Given the description of an element on the screen output the (x, y) to click on. 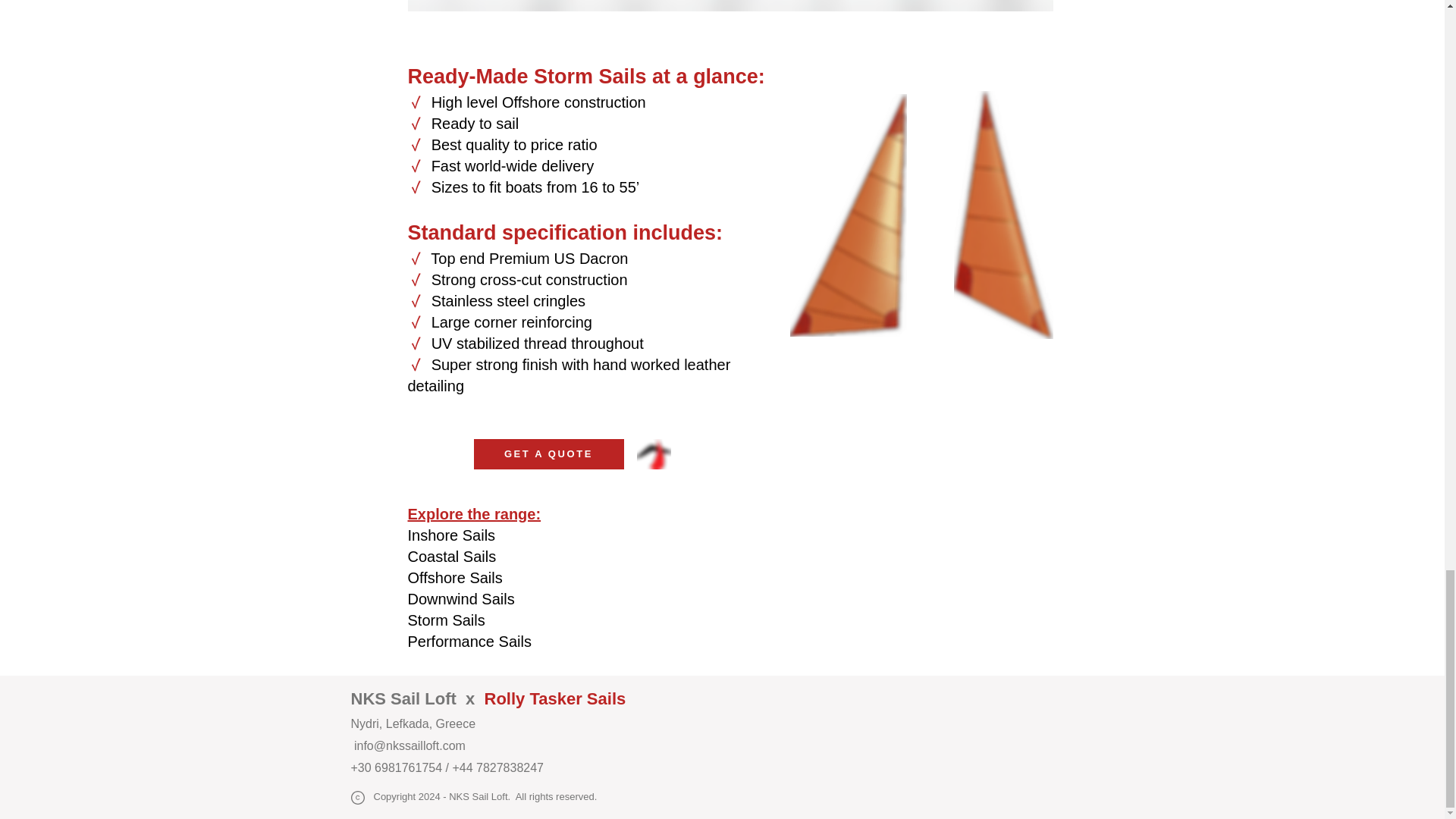
GET A QUOTE (548, 453)
Performance Sails  (471, 641)
NKS S (375, 698)
Rolly Tasker Sails (555, 698)
Offshore Sails  (456, 577)
Downwind Sails  (463, 598)
Storm Sails  (448, 619)
Coastal Sails  (453, 556)
Inshore Sails (451, 535)
ail Loft  x   (442, 698)
